Given the description of an element on the screen output the (x, y) to click on. 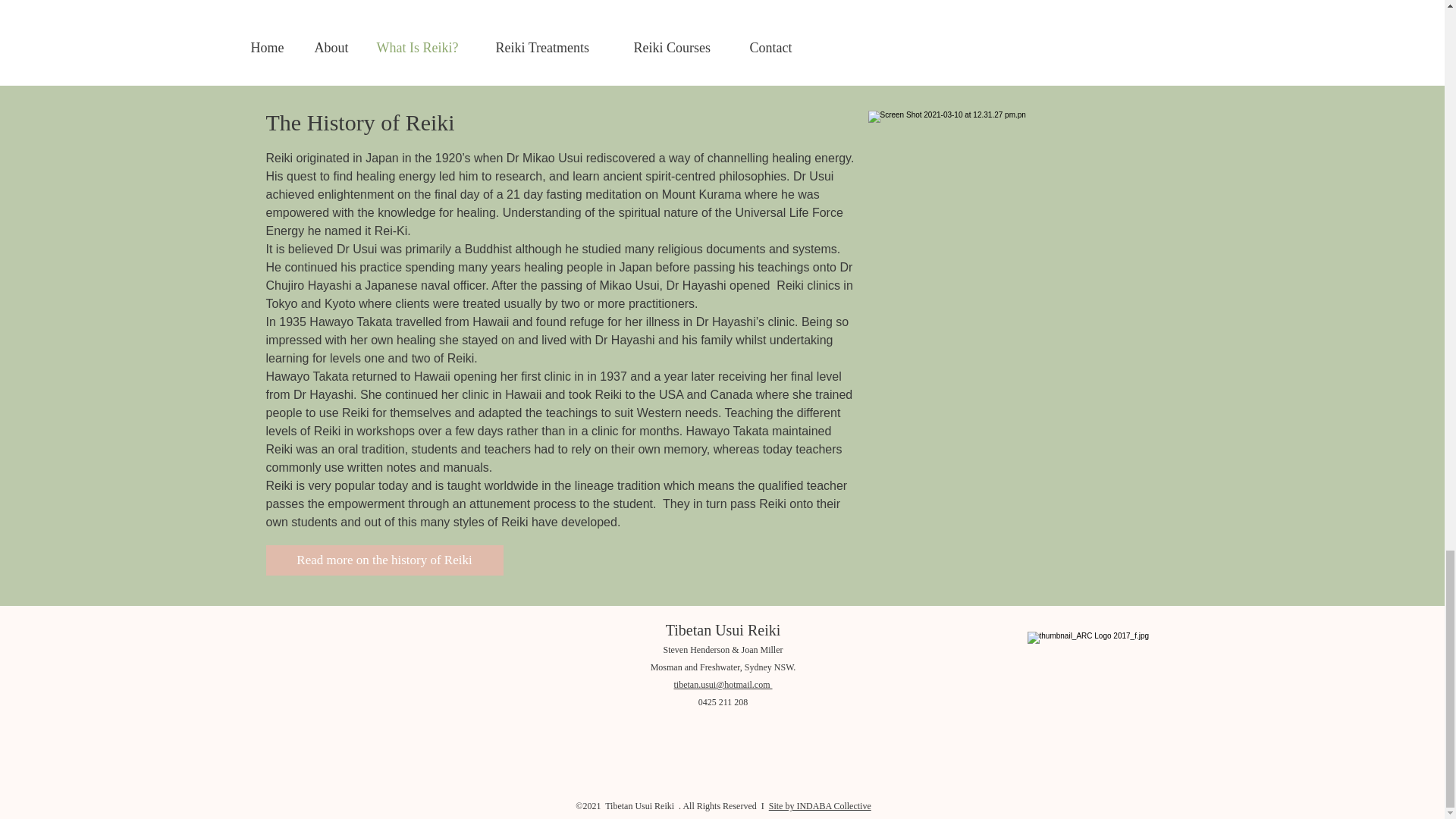
Read more on the history of Reiki (383, 560)
Site by INDABA Collective (819, 805)
